Given the description of an element on the screen output the (x, y) to click on. 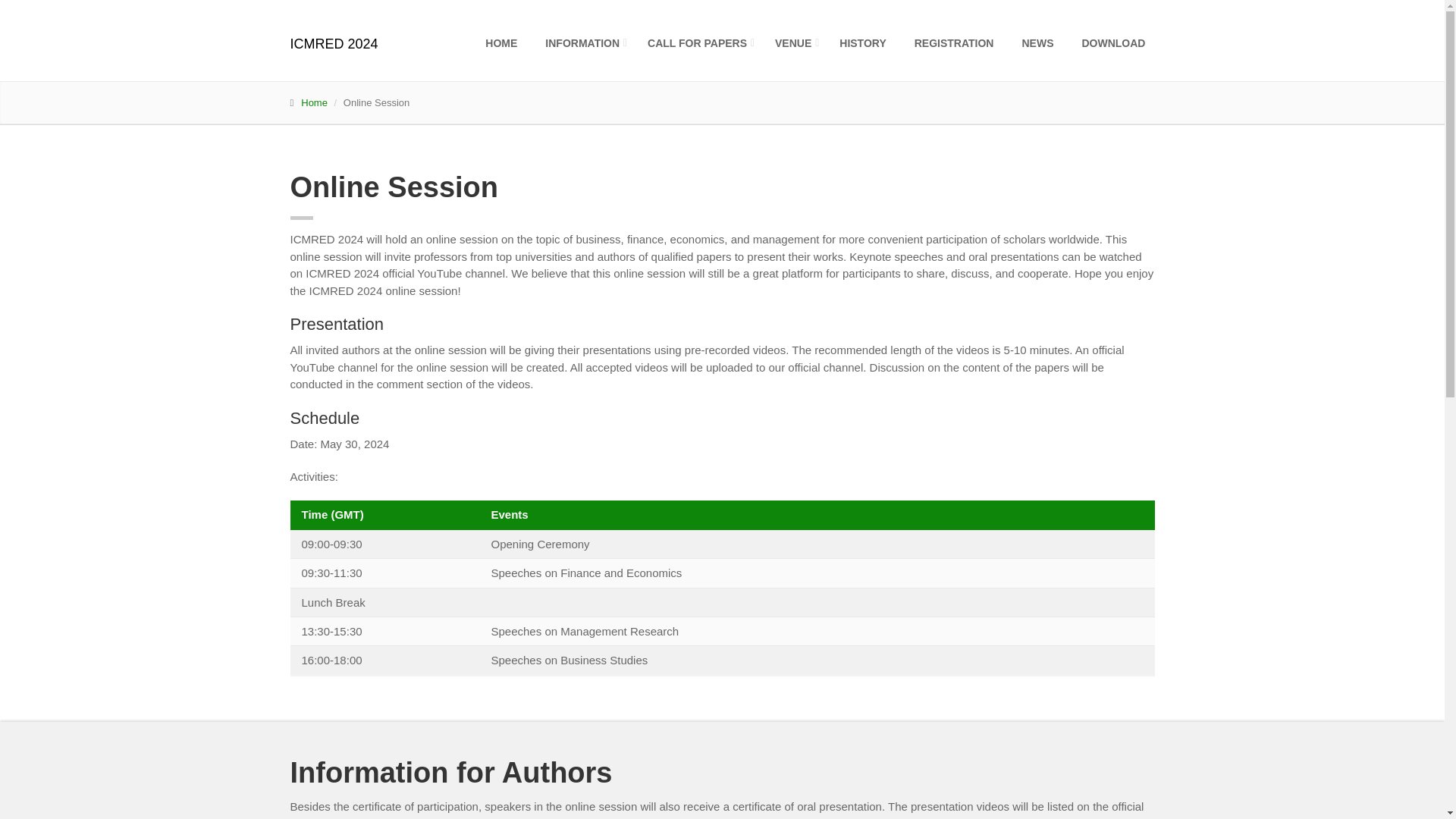
CALL FOR PAPERS (697, 42)
REGISTRATION (954, 42)
HOME (501, 42)
HISTORY (862, 42)
VENUE (793, 42)
DOWNLOAD (1113, 42)
NEWS (1037, 42)
Home (314, 102)
INFORMATION (582, 42)
